Given the description of an element on the screen output the (x, y) to click on. 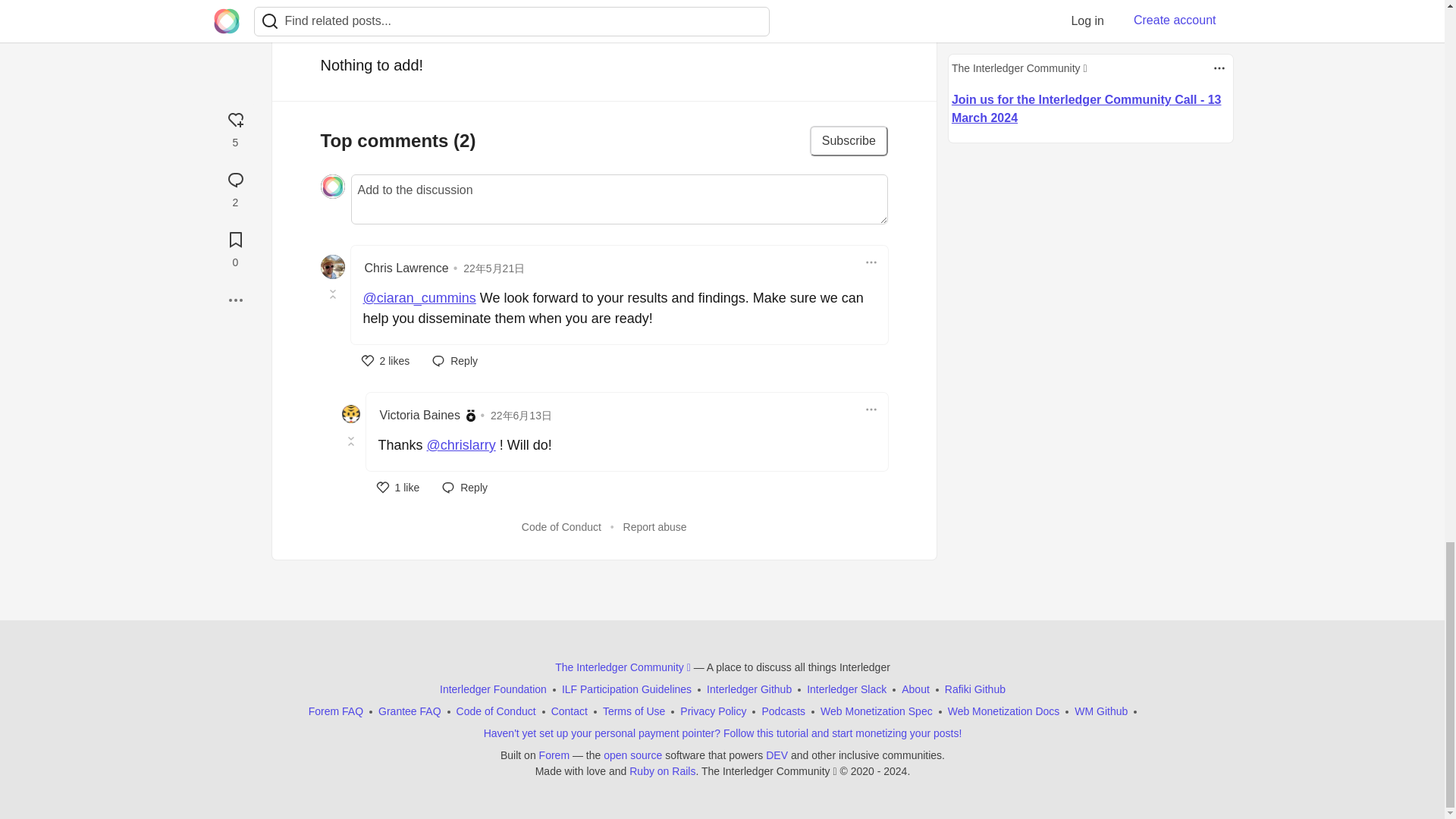
Dropdown menu (870, 262)
Dropdown menu (870, 409)
Subscribe (848, 141)
